Given the description of an element on the screen output the (x, y) to click on. 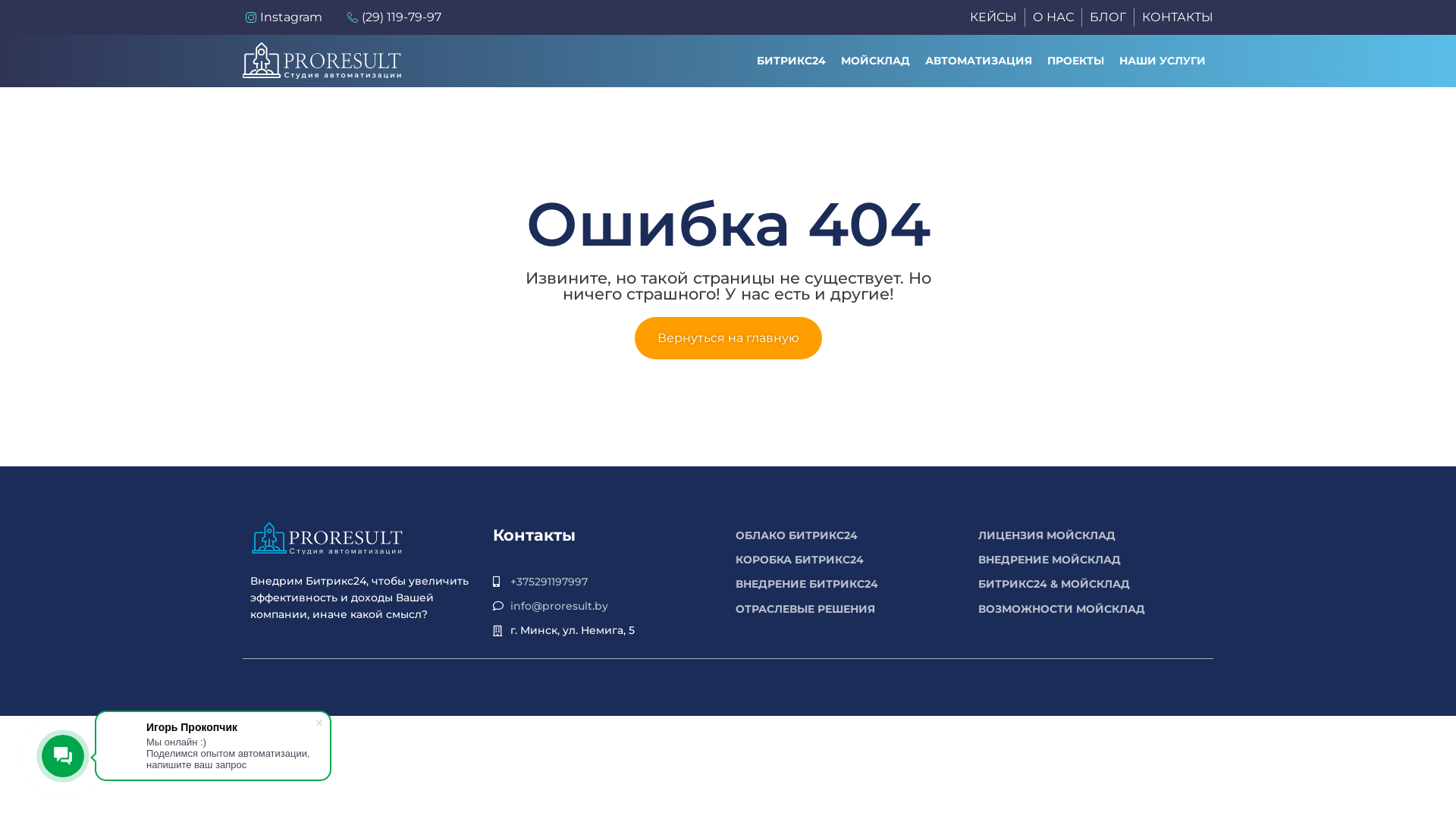
Instagram Element type: text (282, 17)
info@proresult.by Element type: text (606, 605)
(29) 119-79-97 Element type: text (392, 17)
+375291197997 Element type: text (606, 581)
+375291197997 Element type: text (547, 581)
info@proresult.by Element type: text (558, 605)
